Given the description of an element on the screen output the (x, y) to click on. 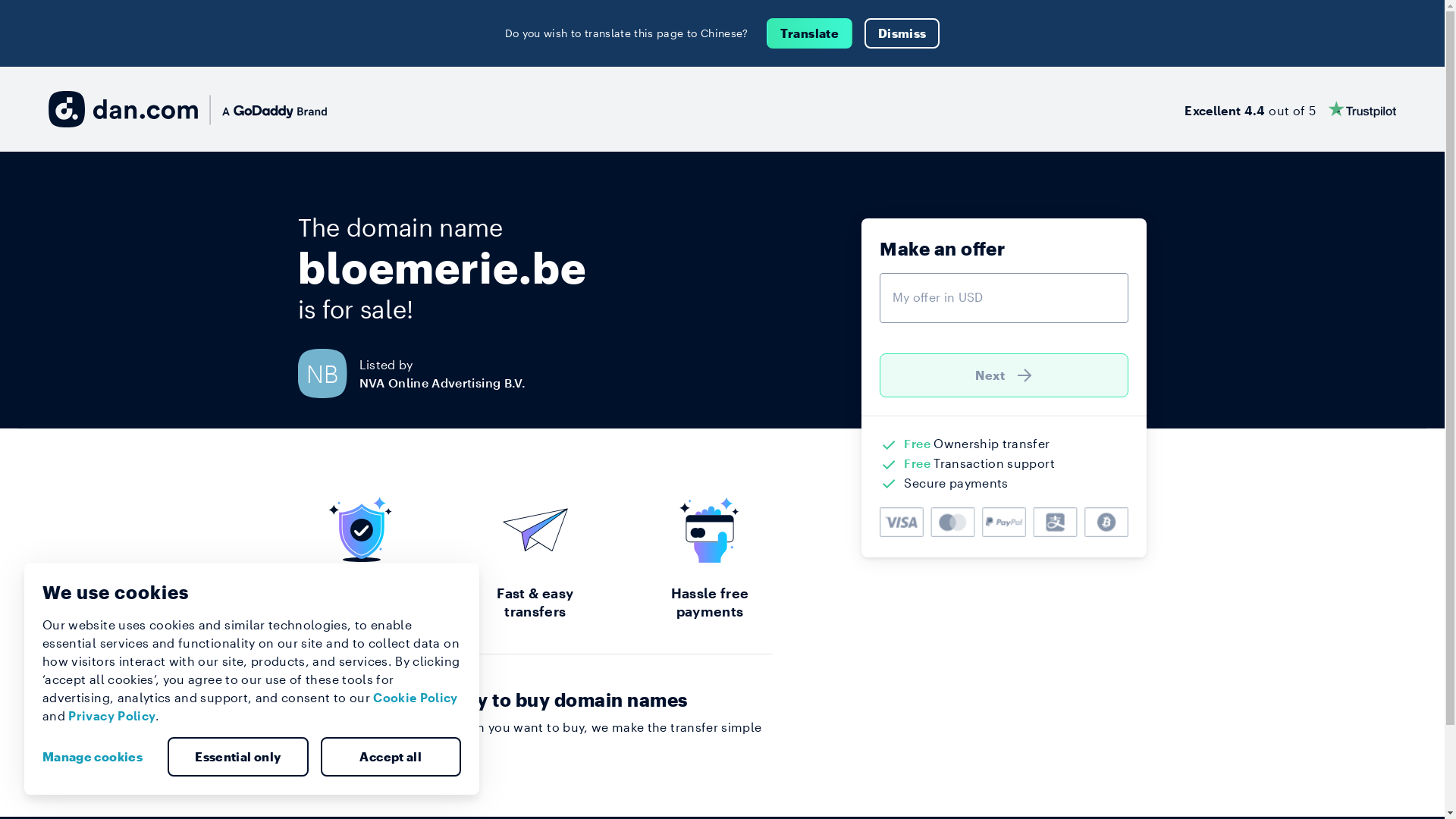
Dismiss Element type: text (901, 33)
Excellent 4.4 out of 5 Element type: text (1290, 109)
Essential only Element type: text (237, 756)
Accept all Element type: text (390, 756)
Translate Element type: text (809, 33)
Manage cookies Element type: text (98, 756)
Cookie Policy Element type: text (415, 697)
Next
) Element type: text (1003, 375)
Privacy Policy Element type: text (111, 715)
